Given the description of an element on the screen output the (x, y) to click on. 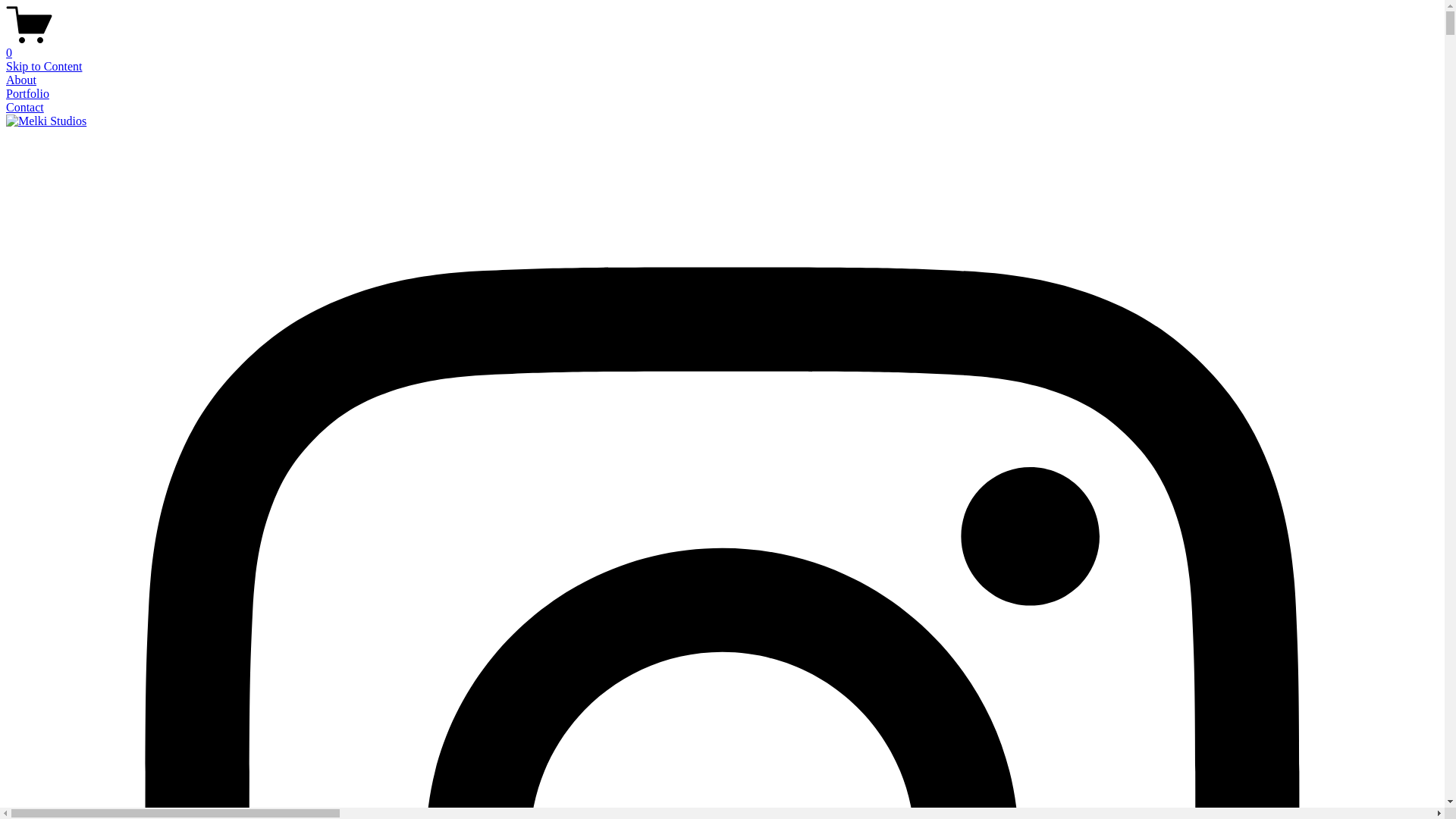
Skip to Content Element type: text (43, 65)
About Element type: text (21, 79)
Contact Element type: text (24, 106)
Portfolio Element type: text (27, 93)
0 Element type: text (722, 45)
